Given the description of an element on the screen output the (x, y) to click on. 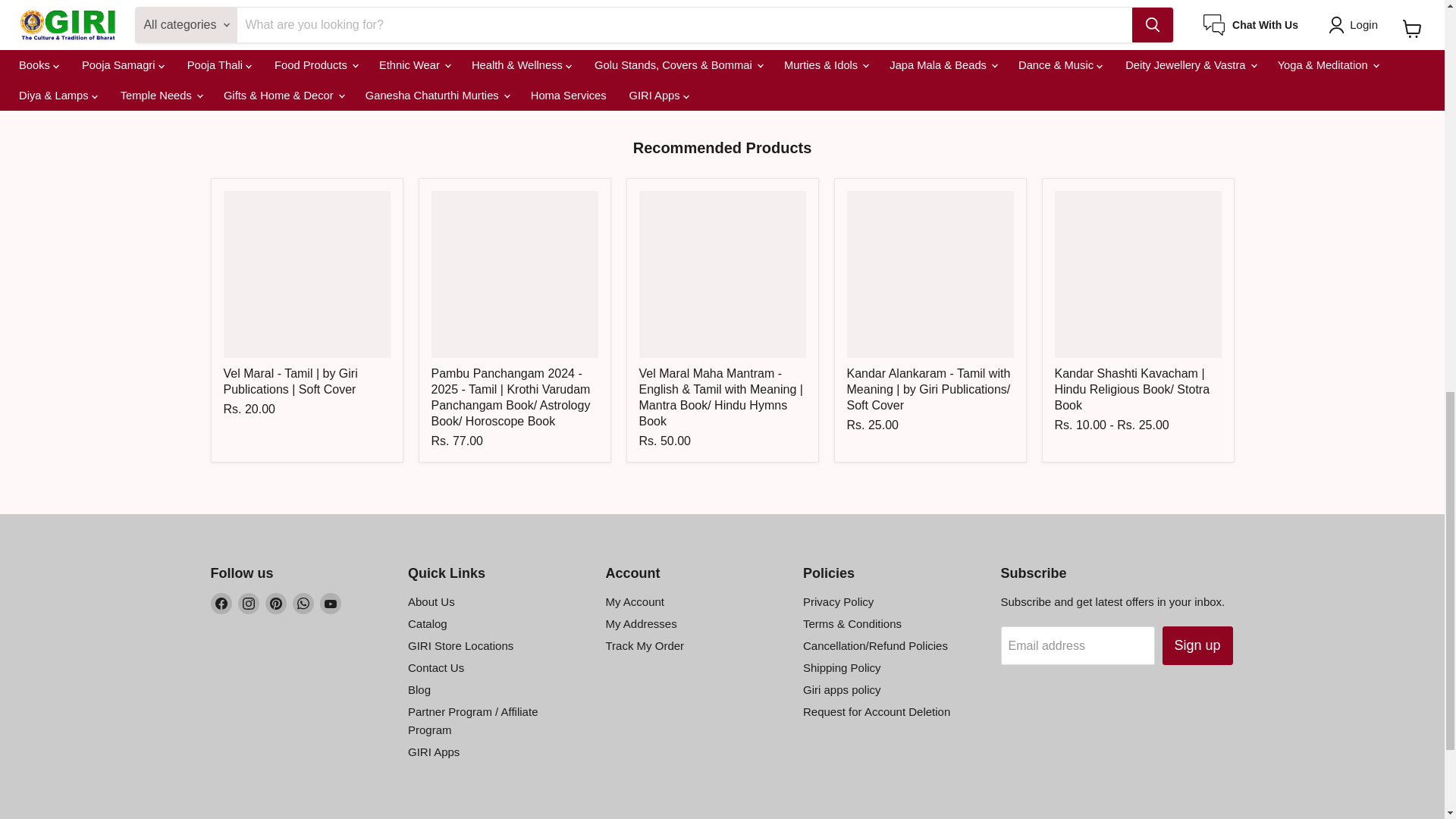
Facebook (221, 603)
YouTube (330, 603)
Pinterest (275, 603)
WhatsApp (303, 603)
Instagram (248, 603)
